Given the description of an element on the screen output the (x, y) to click on. 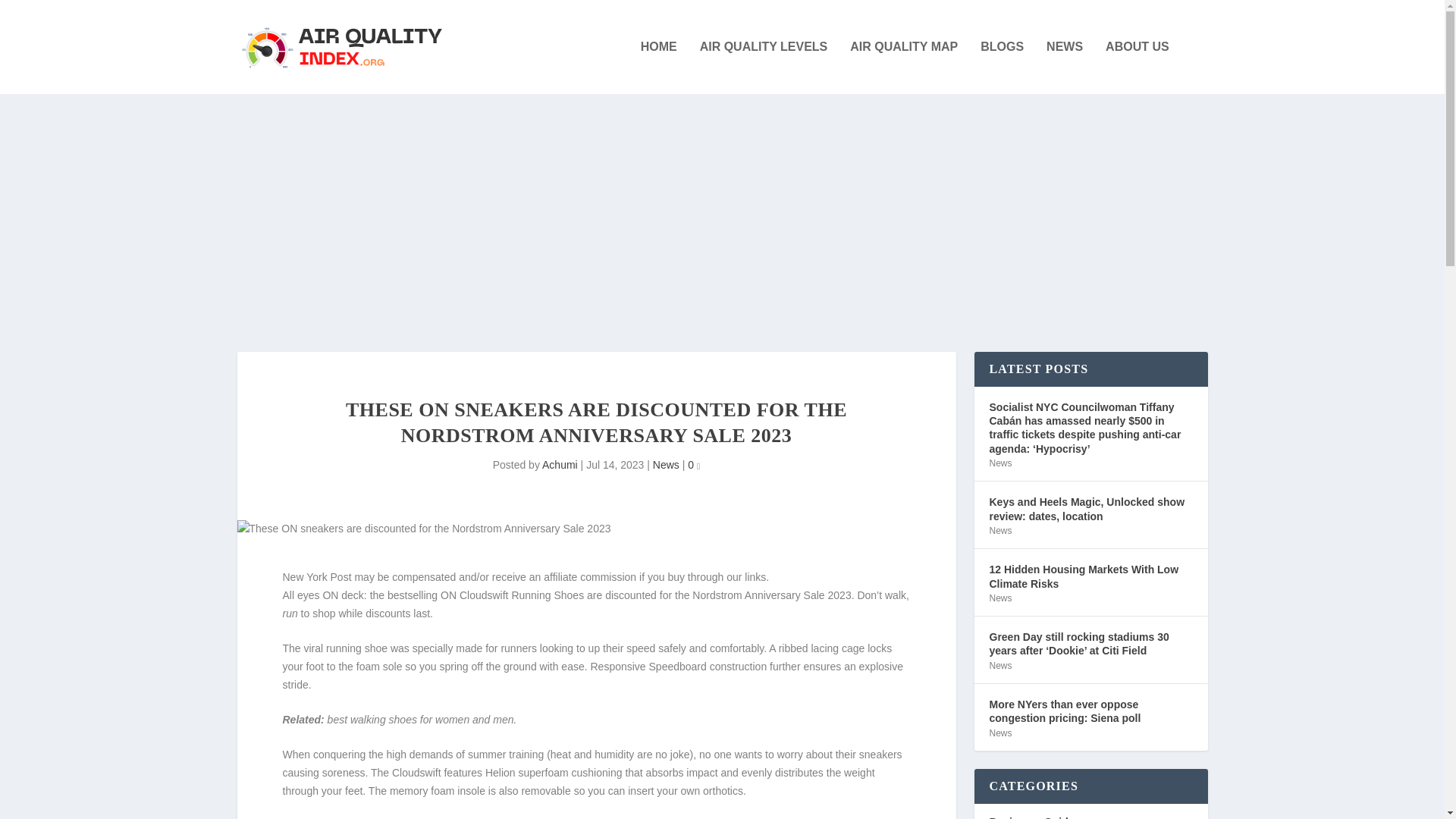
ABOUT US (1137, 67)
0 (693, 464)
Posts by Achumi (559, 464)
News (999, 530)
AIR QUALITY LEVELS (764, 67)
12 Hidden Housing Markets With Low Climate Risks (1090, 576)
AIR QUALITY MAP (904, 67)
News (665, 464)
Keys and Heels Magic, Unlocked show review: dates, location (1090, 508)
